Given the description of an element on the screen output the (x, y) to click on. 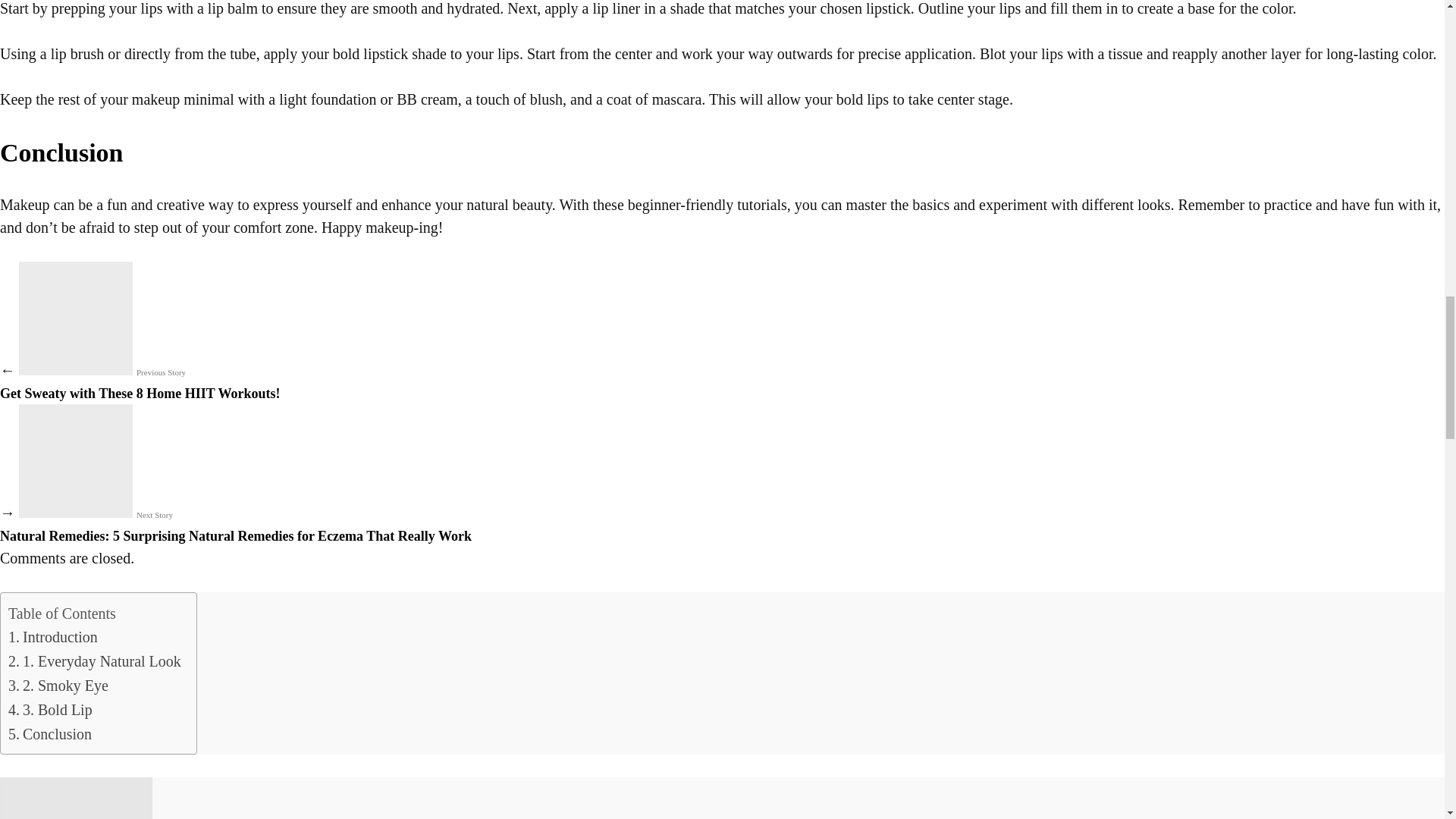
Introduction (52, 636)
3. Bold Lip (50, 709)
3. Bold Lip (50, 709)
1. Everyday Natural Look (94, 661)
Conclusion (49, 733)
1. Everyday Natural Look (140, 382)
Conclusion (94, 661)
Introduction (49, 733)
